Given the description of an element on the screen output the (x, y) to click on. 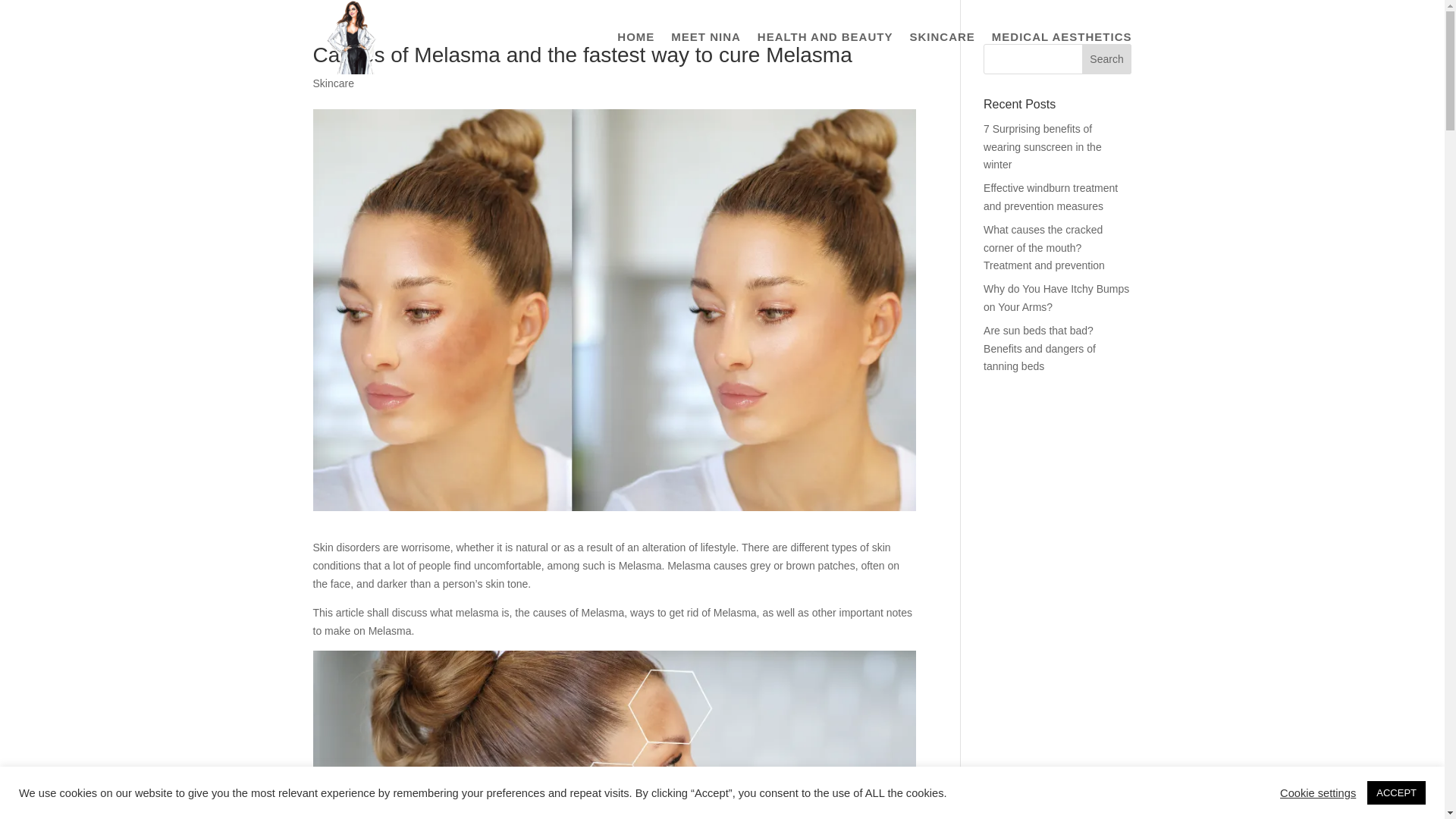
MEDICAL AESTHETICS (1061, 52)
Effective windburn treatment and prevention measures (1051, 196)
Search (1106, 59)
SKINCARE (941, 52)
Are sun beds that bad? Benefits and dangers of tanning beds (1040, 348)
Why do You Have Itchy Bumps on Your Arms? (1056, 297)
7 Surprising benefits of wearing sunscreen in the winter (1043, 146)
Skincare (333, 82)
Search (1106, 59)
MEET NINA (706, 52)
